Given the description of an element on the screen output the (x, y) to click on. 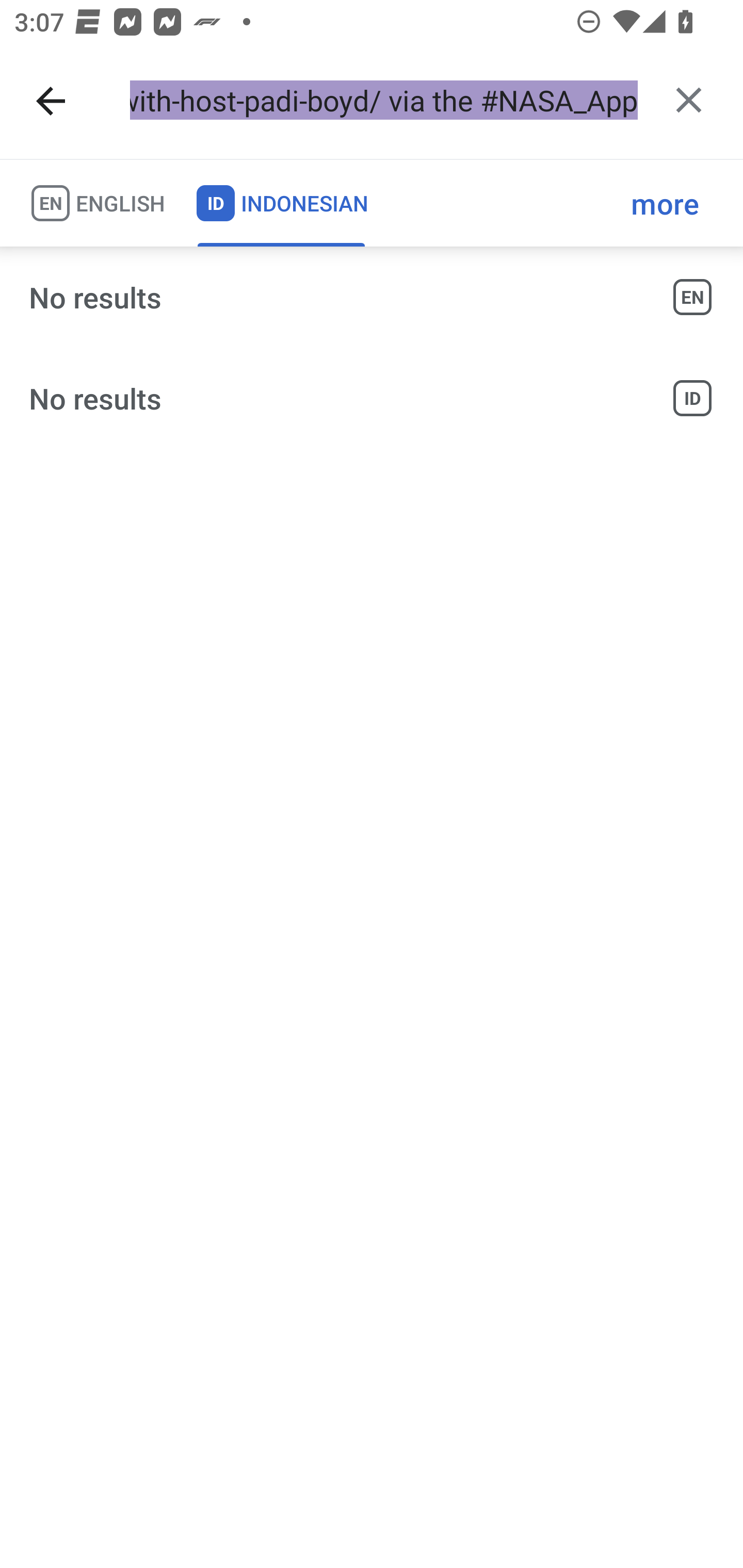
Navigate up (50, 101)
Clear query (688, 99)
EN ENGLISH (96, 202)
more (664, 202)
No results EN (371, 297)
No results ID (371, 398)
